Given the description of an element on the screen output the (x, y) to click on. 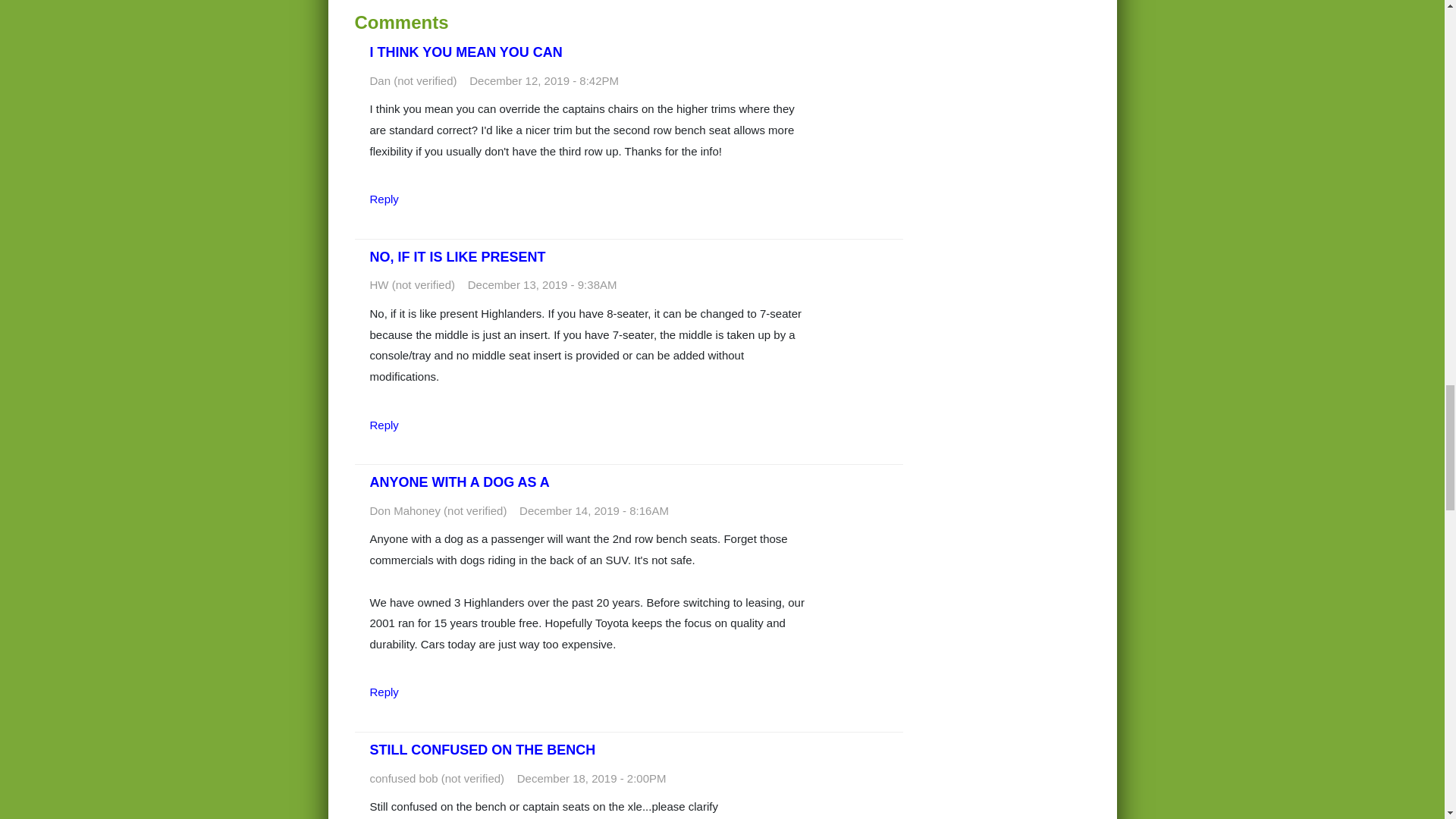
I THINK YOU MEAN YOU CAN (465, 52)
Reply (383, 198)
